Given the description of an element on the screen output the (x, y) to click on. 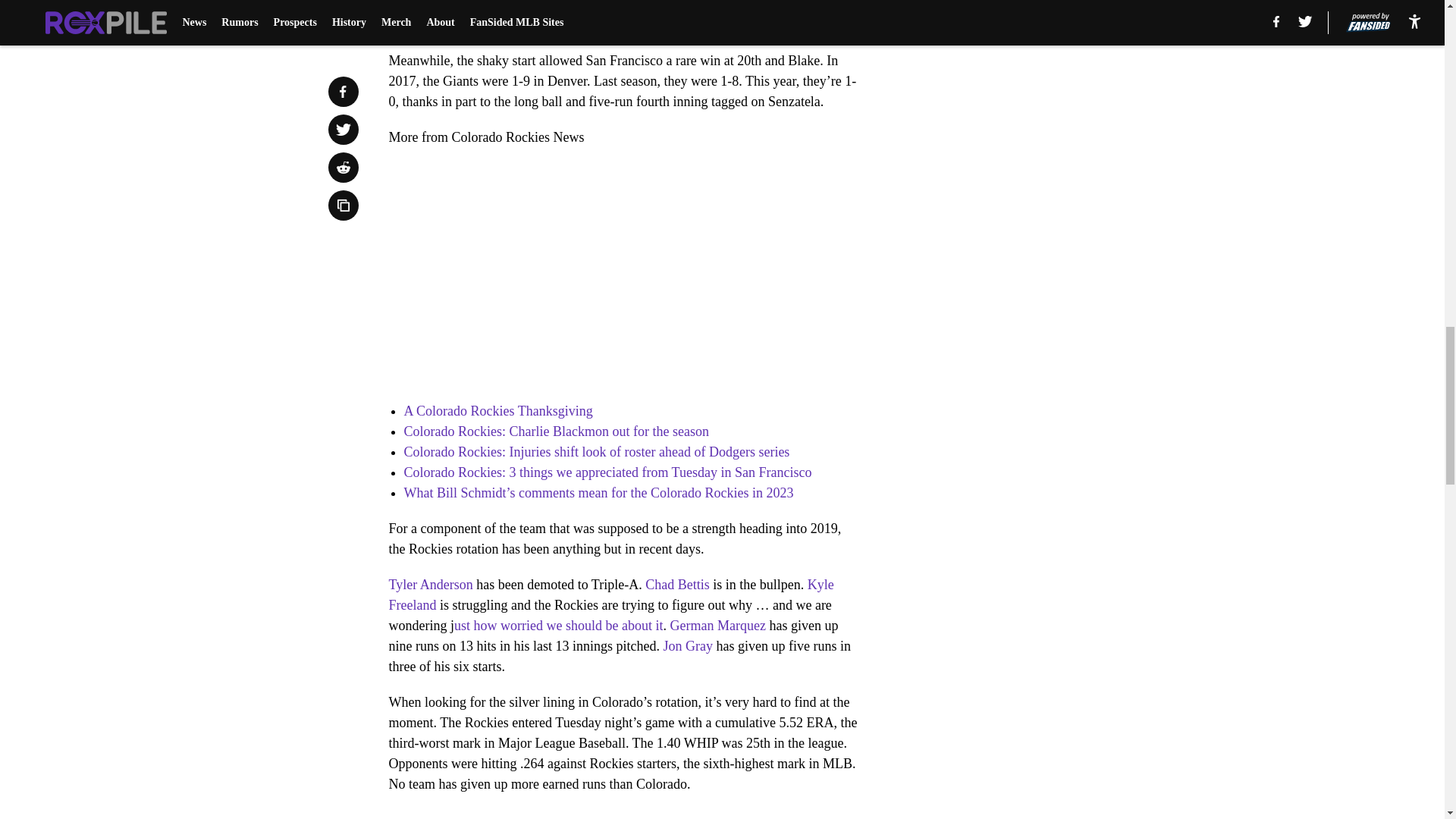
Colorado Rockies: Charlie Blackmon out for the season (555, 431)
German Marquez (717, 625)
Chad Bettis (677, 584)
Jon Gray (687, 645)
Tyler Anderson (429, 584)
ust how worried we should be about it (558, 625)
A Colorado Rockies Thanksgiving (497, 410)
Kyle Freeland (610, 594)
